Given the description of an element on the screen output the (x, y) to click on. 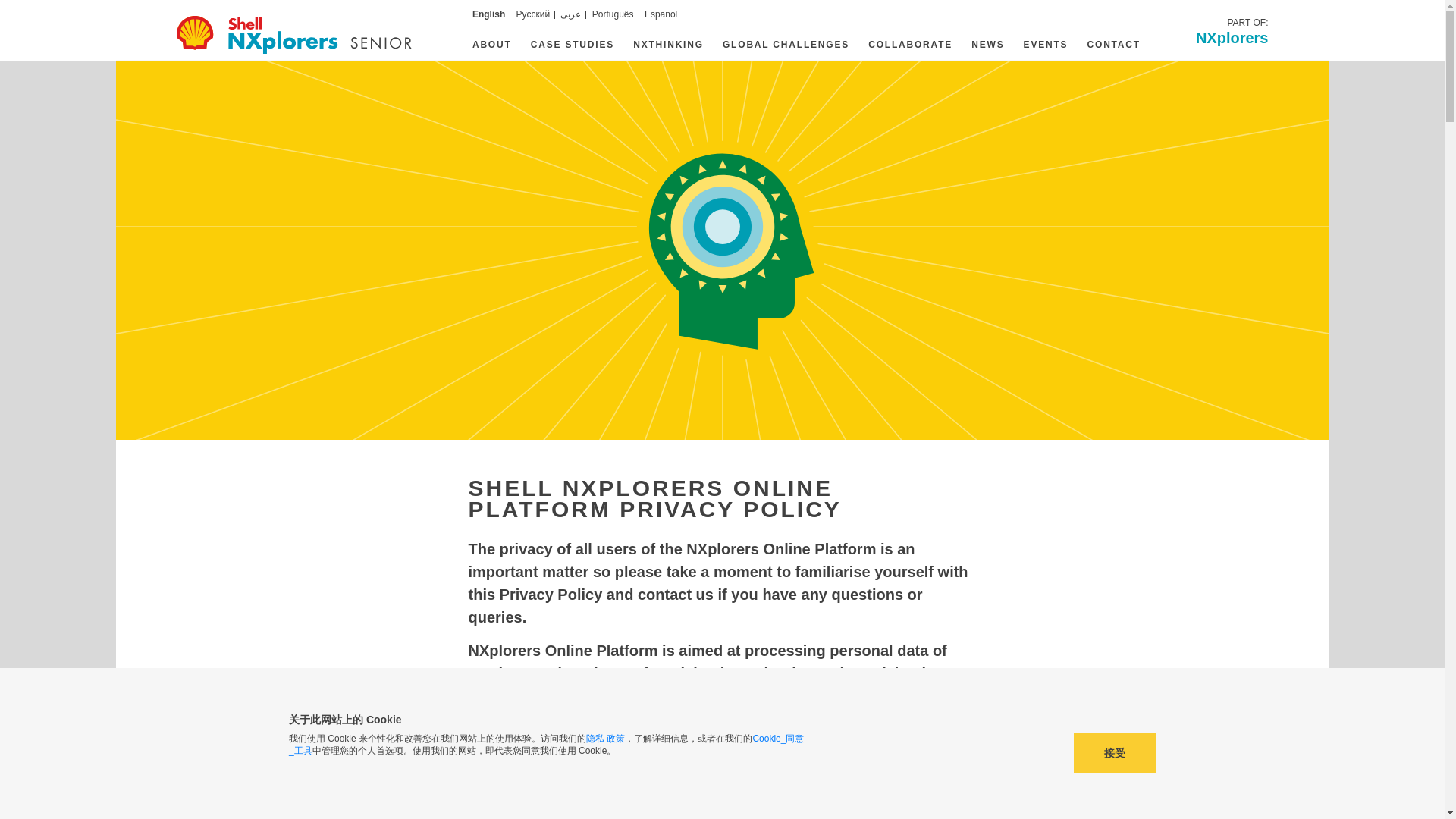
ABOUT (493, 44)
CONTACT (1113, 44)
NXTHINKING (670, 44)
English (491, 14)
CASE STUDIES (574, 44)
NEWS (989, 44)
EVENTS (1231, 29)
GLOBAL CHALLENGES (1047, 44)
COLLABORATE (787, 44)
